Given the description of an element on the screen output the (x, y) to click on. 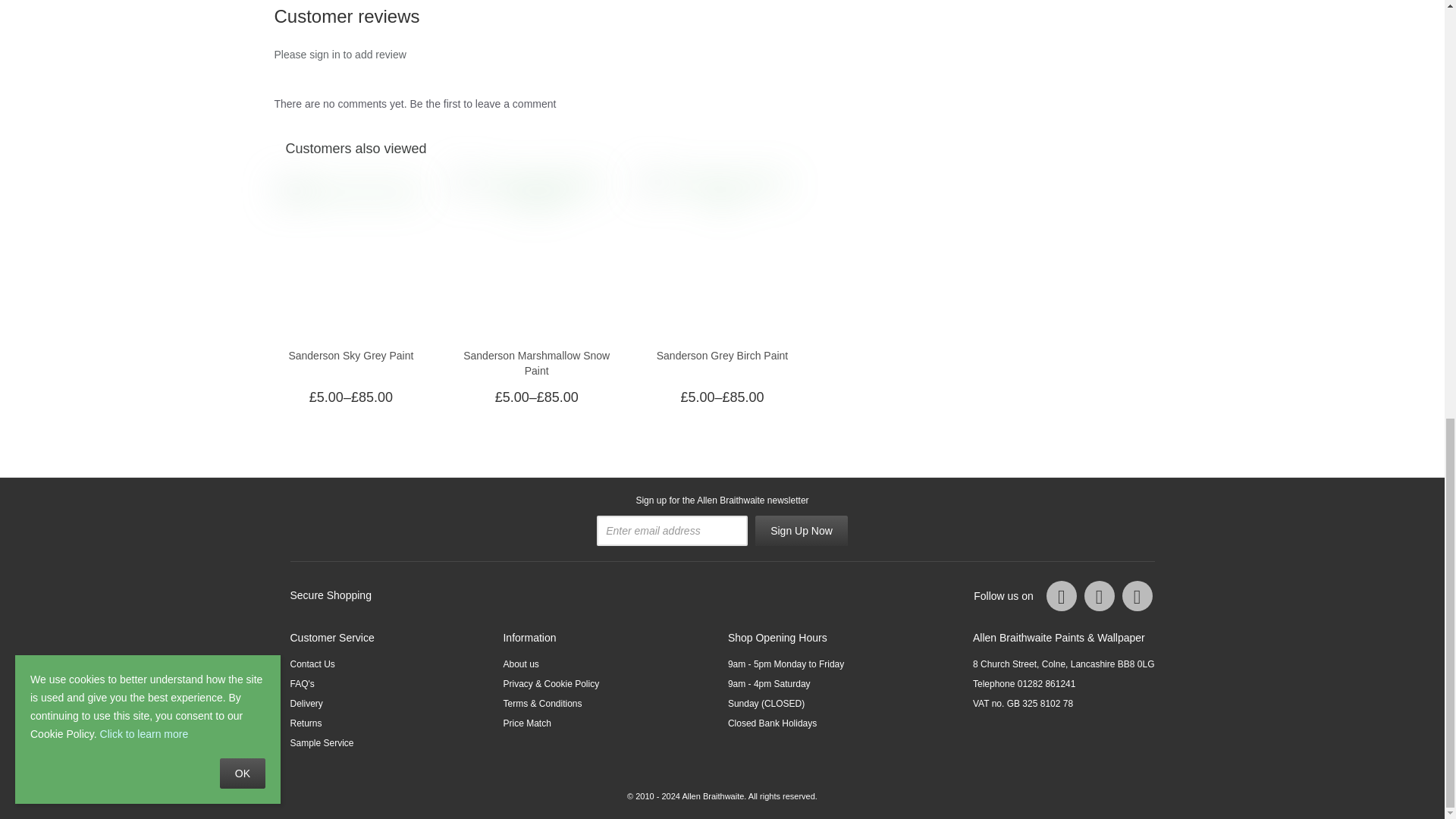
Add to wishlist (601, 396)
Add to wishlist (416, 396)
